Given the description of an element on the screen output the (x, y) to click on. 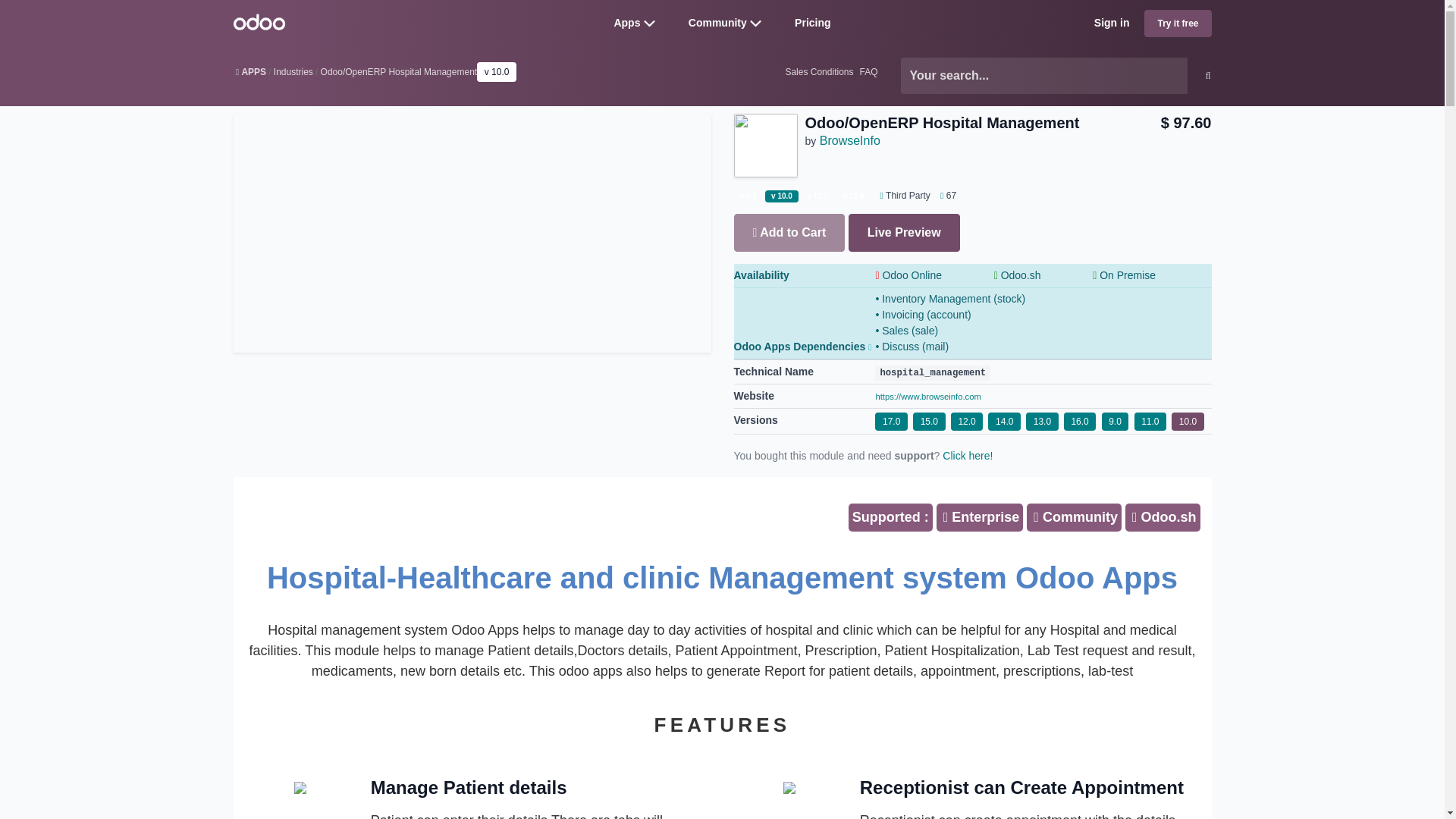
Apps (626, 22)
The tool is compatible with the Odoo Enterprise version (980, 516)
The tool is compatible with the Odoo Community version (1074, 516)
Purchases (944, 195)
Sign in (1111, 22)
Odoo (258, 21)
Try it free (1177, 22)
